Given the description of an element on the screen output the (x, y) to click on. 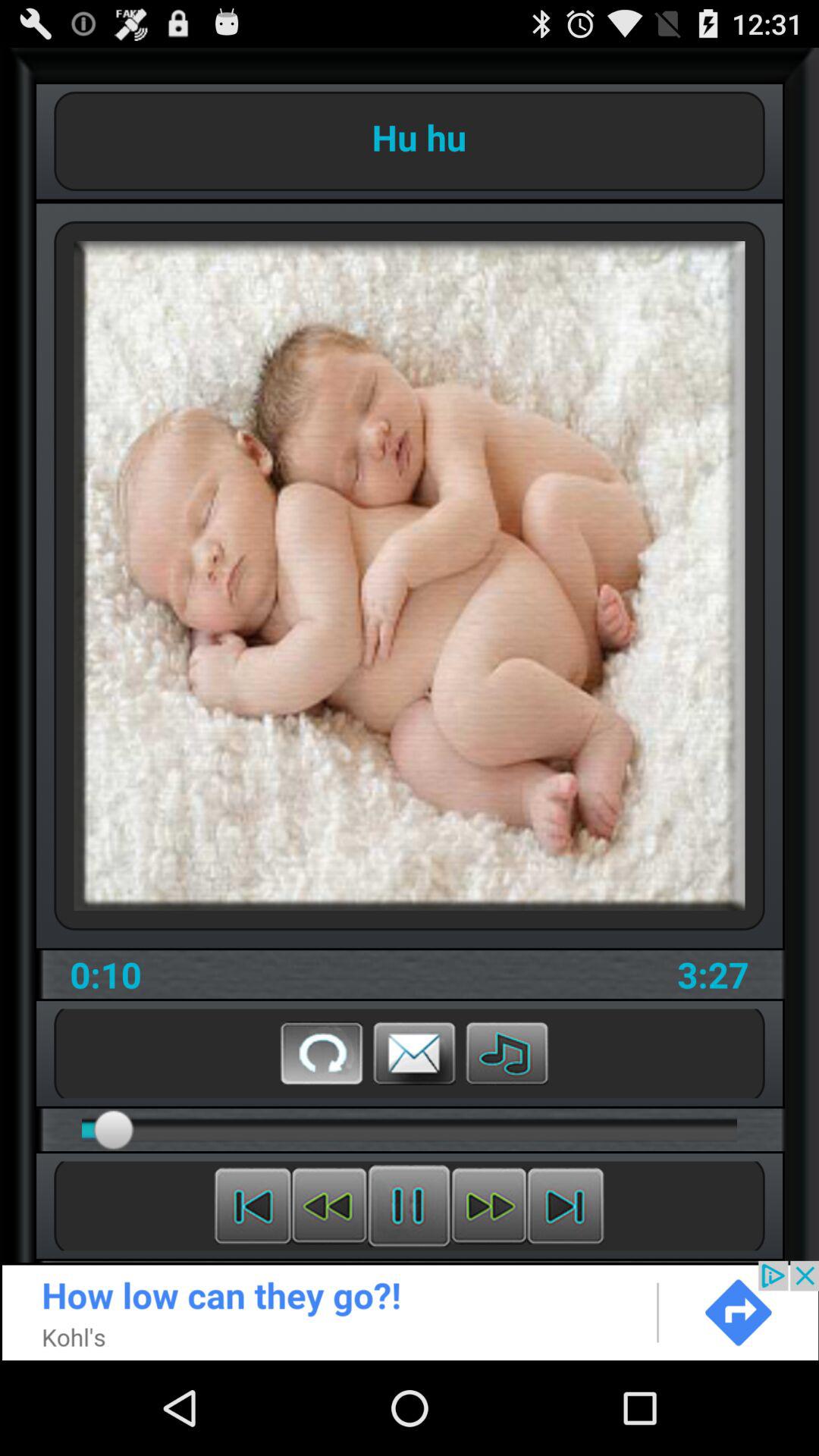
refresh (321, 1053)
